Given the description of an element on the screen output the (x, y) to click on. 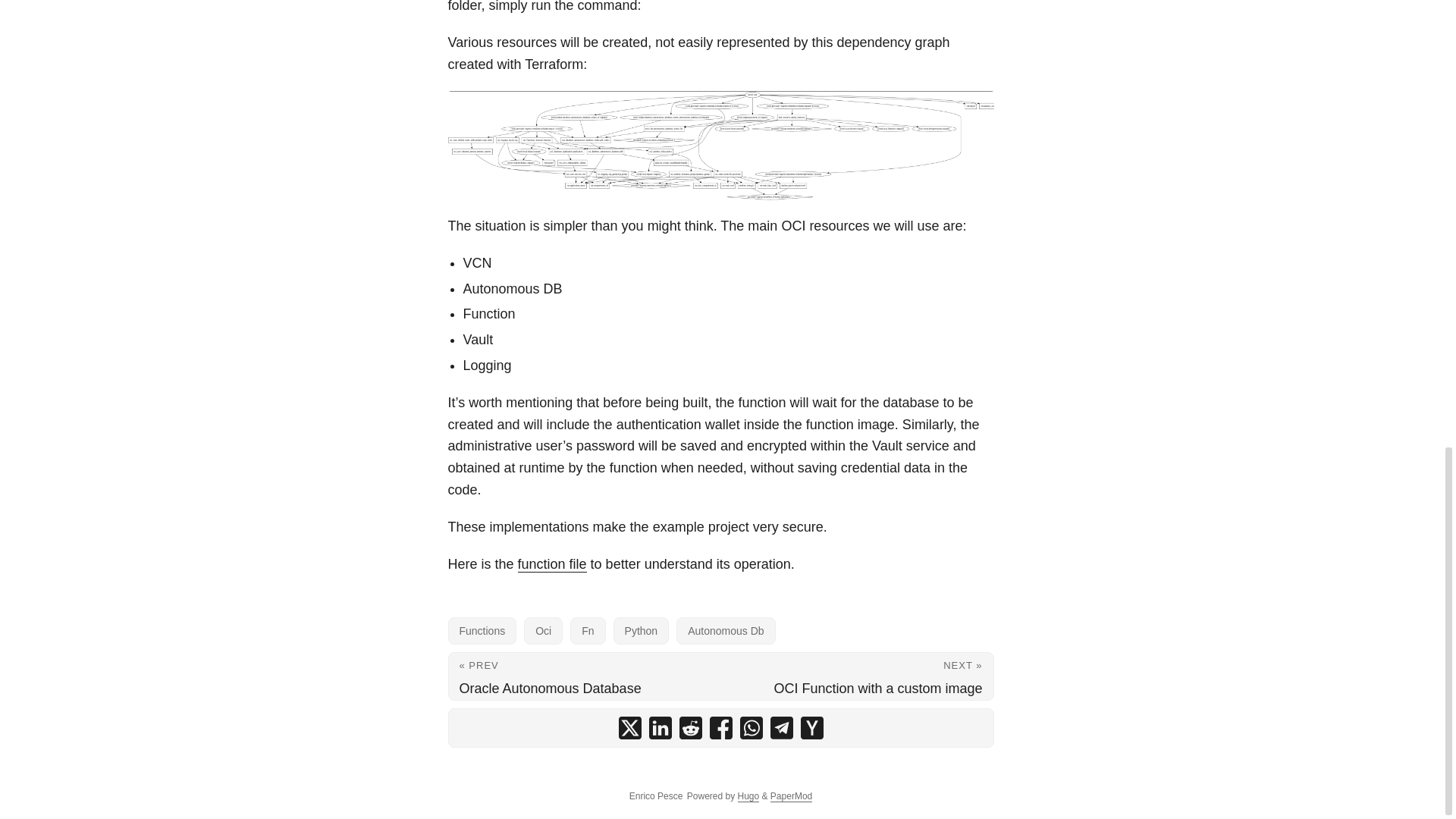
Fn (587, 630)
Hugo (747, 796)
function file (552, 563)
Function Log (719, 144)
Python (640, 630)
PaperMod (791, 796)
Oci (543, 630)
Autonomous Db (725, 630)
Functions (481, 630)
